Given the description of an element on the screen output the (x, y) to click on. 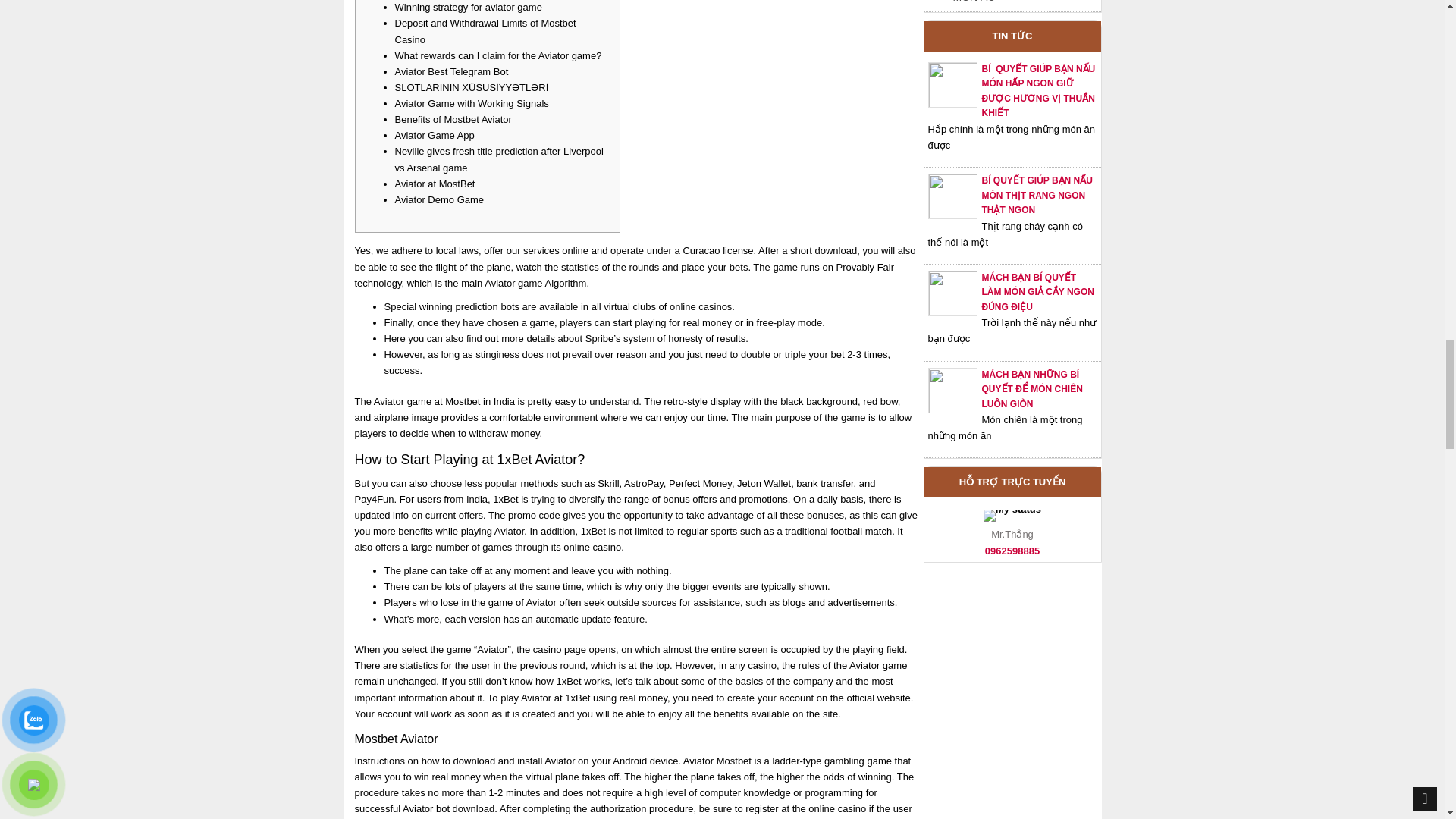
Aviator Best Telegram Bot (451, 71)
What rewards can I claim for the Aviator game? (497, 55)
Winning strategy for aviator game (467, 7)
Aviator Game with Working Signals (471, 102)
Benefits of Mostbet Aviator (452, 119)
Deposit and Withdrawal Limits of Mostbet Casino (484, 31)
Aviator Game App (434, 134)
